Given the description of an element on the screen output the (x, y) to click on. 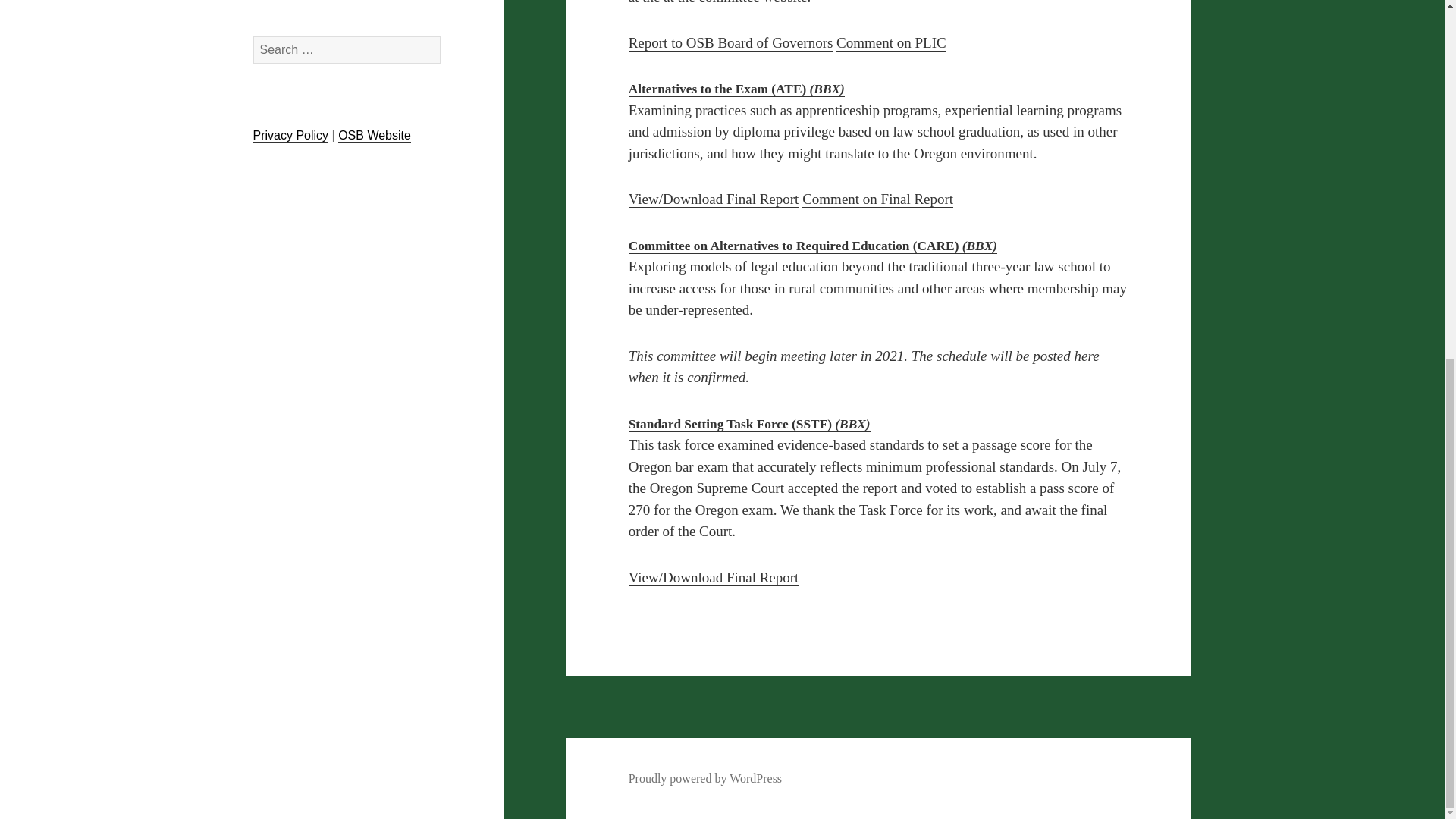
at the committee website (734, 2)
Comment on PLIC (890, 43)
Report to OSB Board of Governors (730, 43)
Privacy Policy (291, 135)
OSB Website (373, 135)
